Given the description of an element on the screen output the (x, y) to click on. 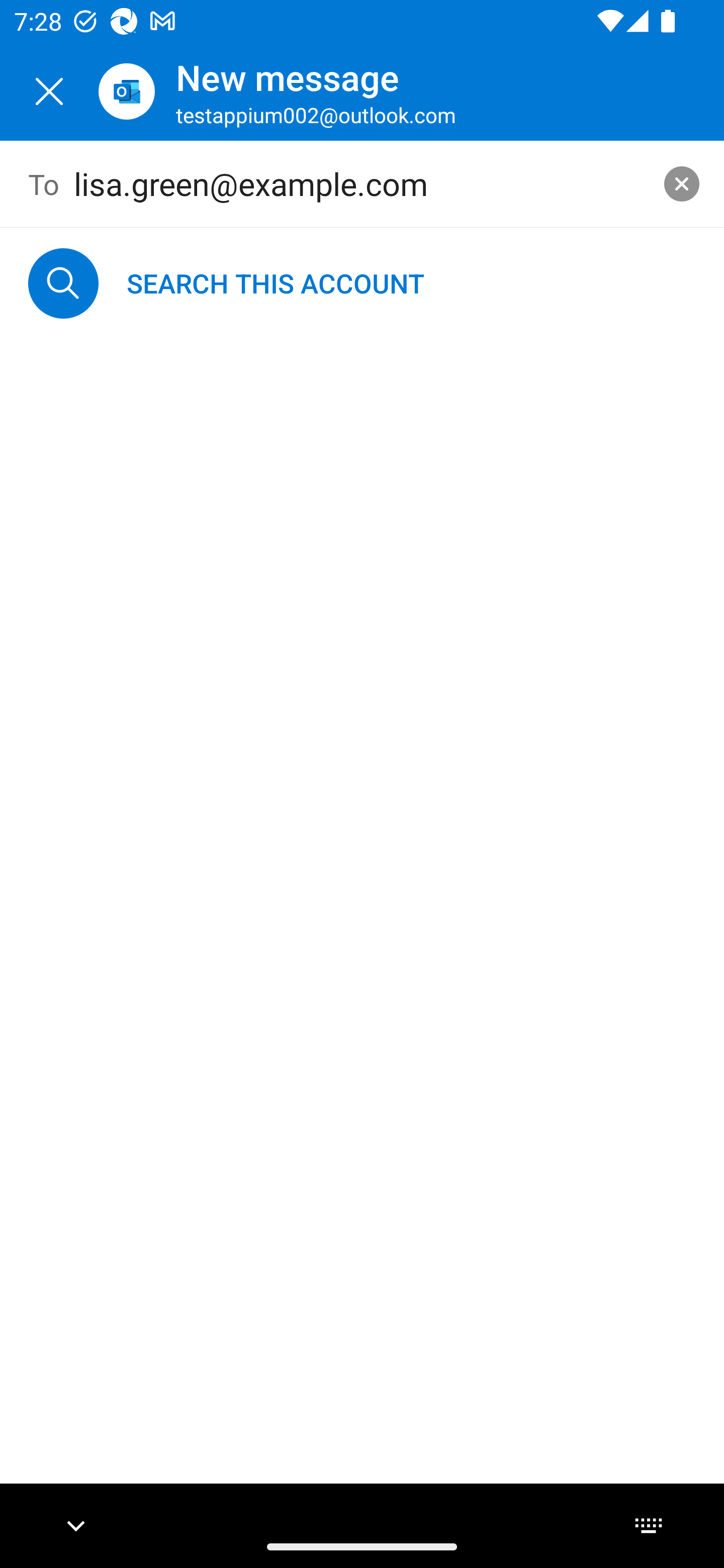
Close (49, 91)
lisa.green@example.com (362, 184)
clear search (681, 183)
